Given the description of an element on the screen output the (x, y) to click on. 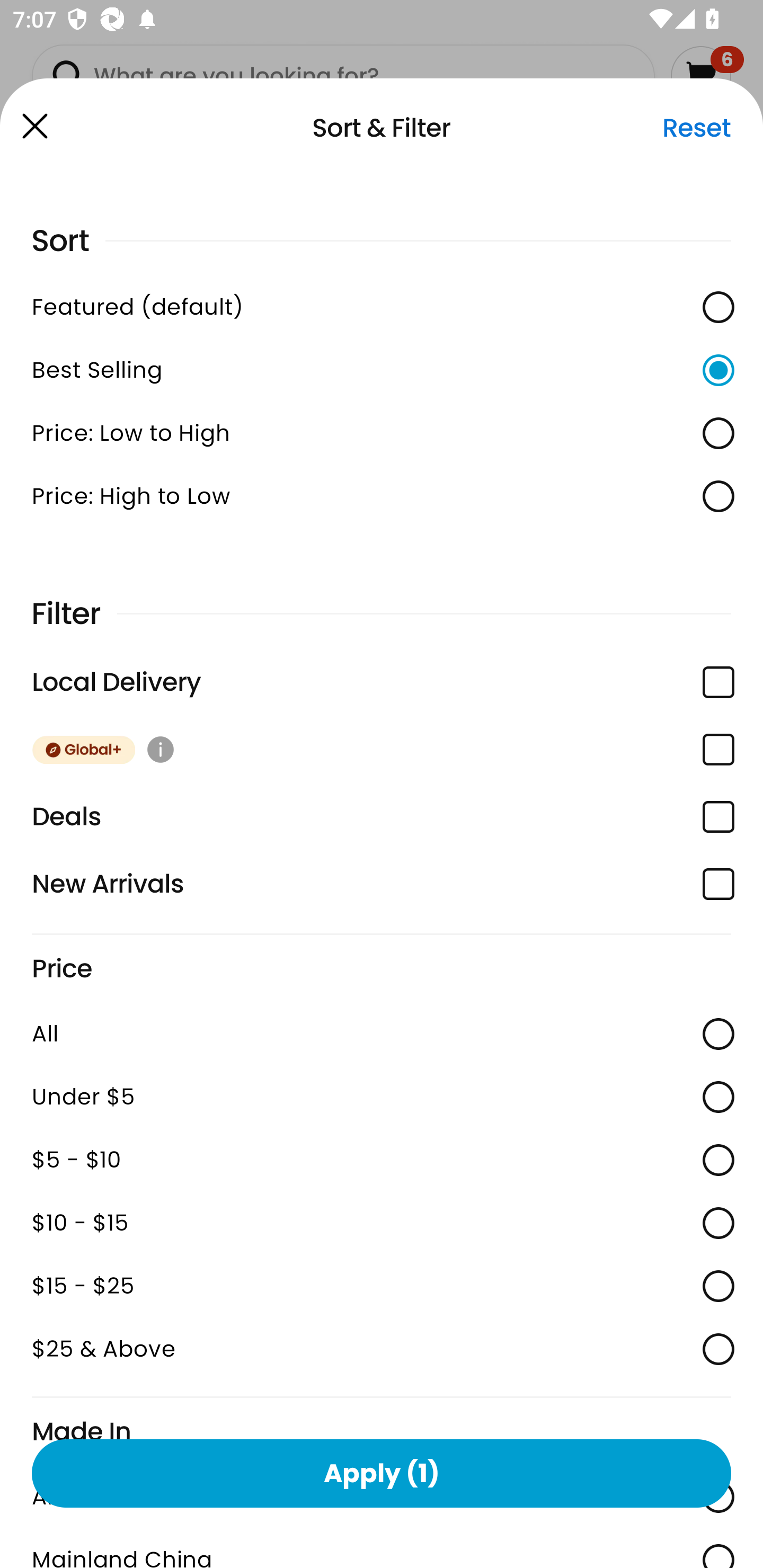
Reset (696, 127)
Apply (1) (381, 1472)
